Given the description of an element on the screen output the (x, y) to click on. 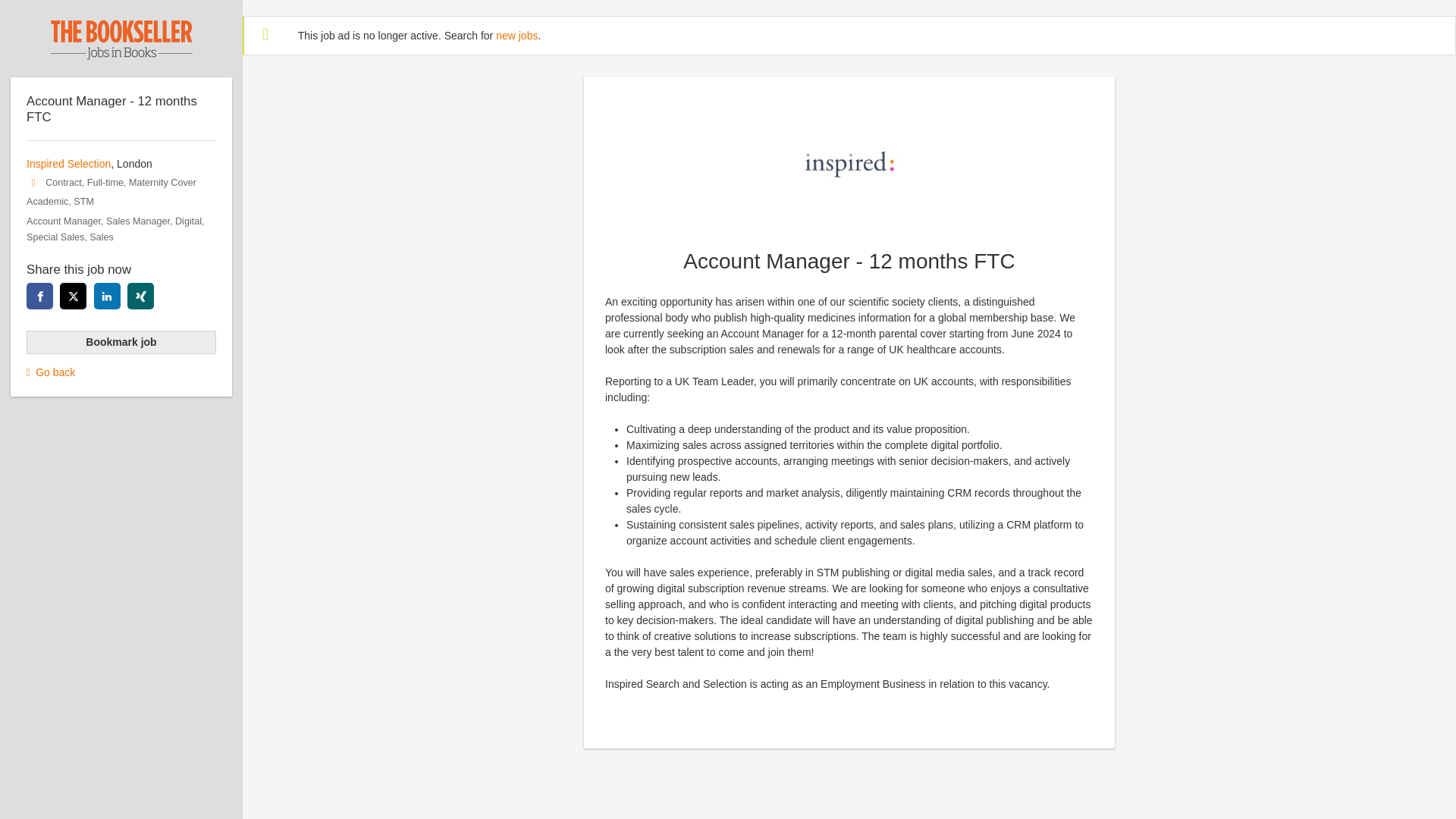
Bookmark job (120, 342)
new jobs (516, 35)
Inspired Selection (849, 164)
Inspired Selection (68, 163)
Inspired Selection (849, 163)
Go back (120, 372)
Bookmark job (120, 342)
